Given the description of an element on the screen output the (x, y) to click on. 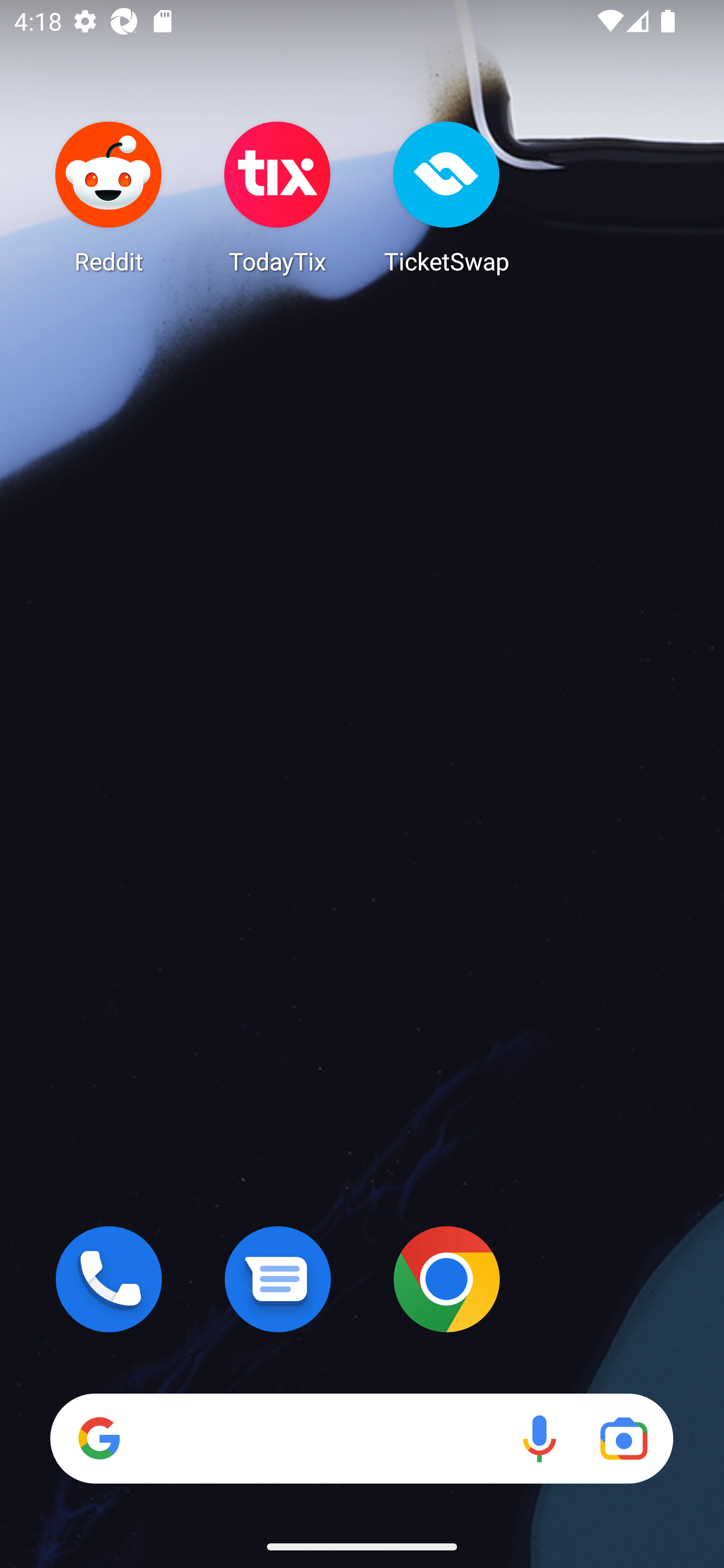
Reddit (108, 196)
TodayTix (277, 196)
TicketSwap (445, 196)
Phone (108, 1279)
Messages (277, 1279)
Chrome (446, 1279)
Voice search (539, 1438)
Google Lens (623, 1438)
